Given the description of an element on the screen output the (x, y) to click on. 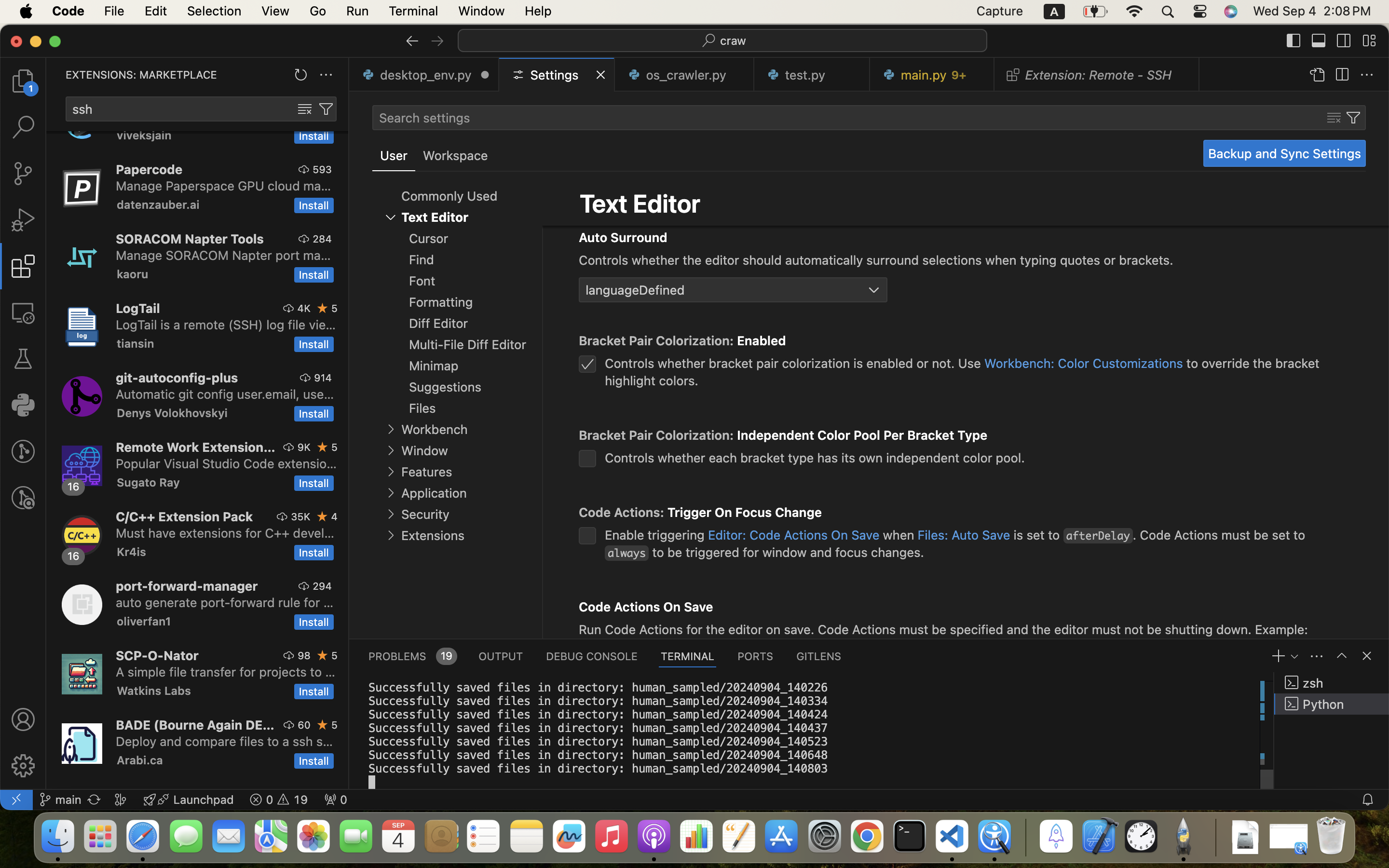
0  Element type: AXRadioButton (23, 173)
 Element type: AXStaticText (1366, 74)
A simple file transfer for projects to and from servers suporting scp (ssh file transfer). Element type: AXStaticText (225, 671)
 Element type: AXStaticText (322, 446)
 Element type: AXCheckBox (1344, 40)
